Given the description of an element on the screen output the (x, y) to click on. 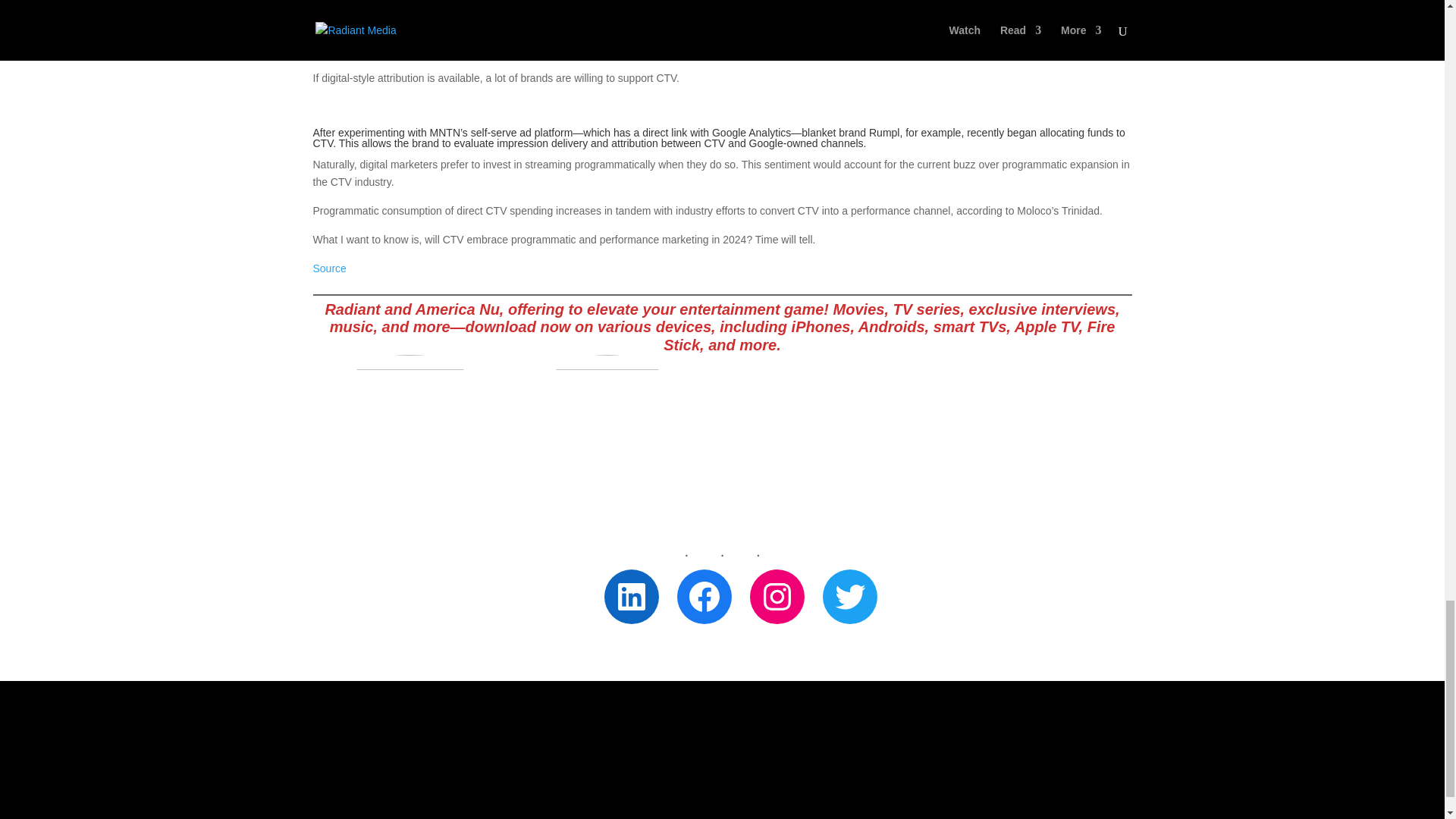
Facebook (703, 596)
Twitter (849, 596)
Source (329, 268)
Instagram (776, 596)
LinkedIn (631, 596)
